Given the description of an element on the screen output the (x, y) to click on. 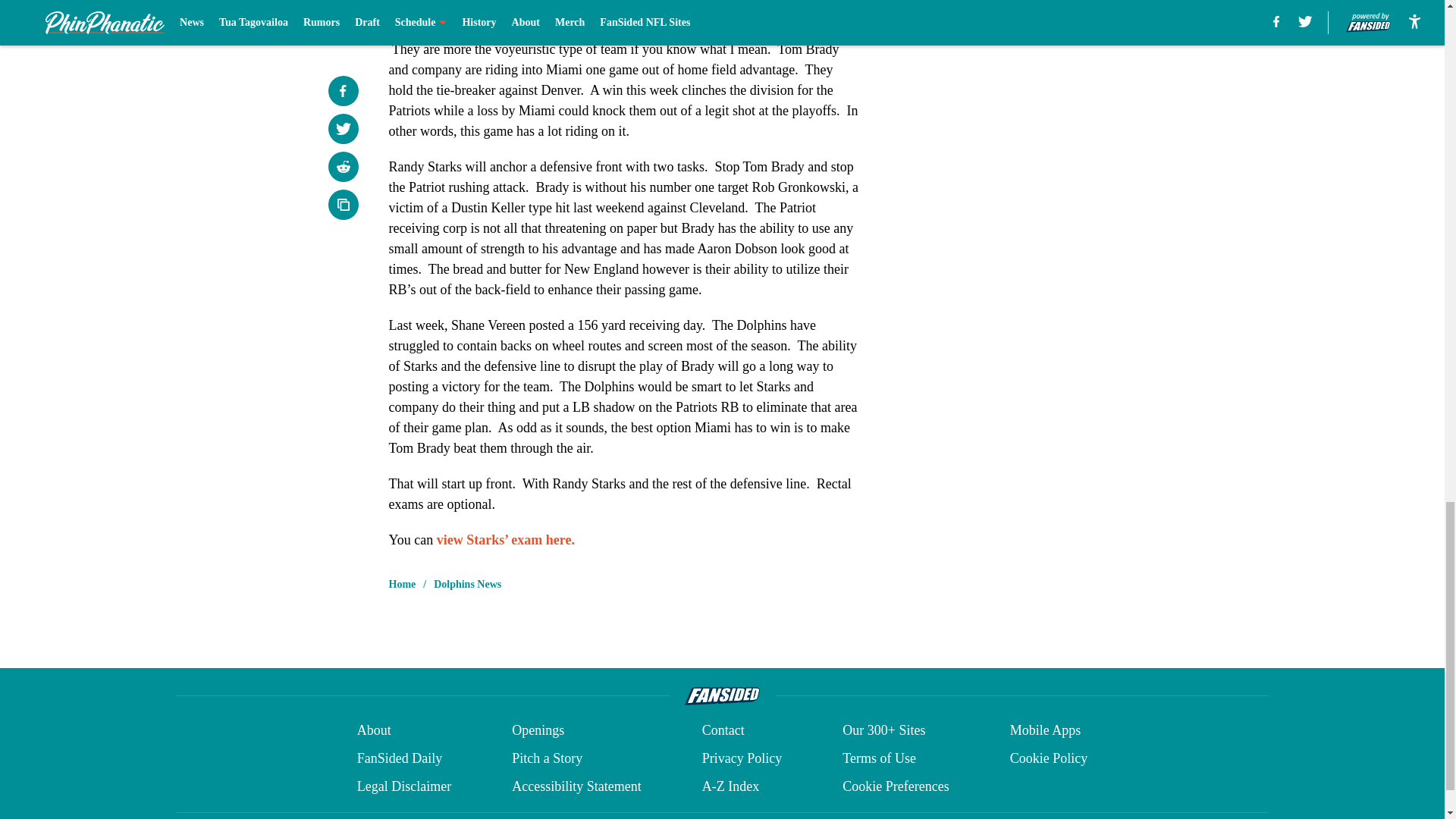
Accessibility Statement (576, 786)
Cookie Preferences (896, 786)
Openings (538, 730)
Cookie Policy (1048, 758)
Dolphins News (466, 584)
FanSided Daily (399, 758)
Privacy Policy (742, 758)
Terms of Use (879, 758)
Contact (722, 730)
A-Z Index (729, 786)
